Given the description of an element on the screen output the (x, y) to click on. 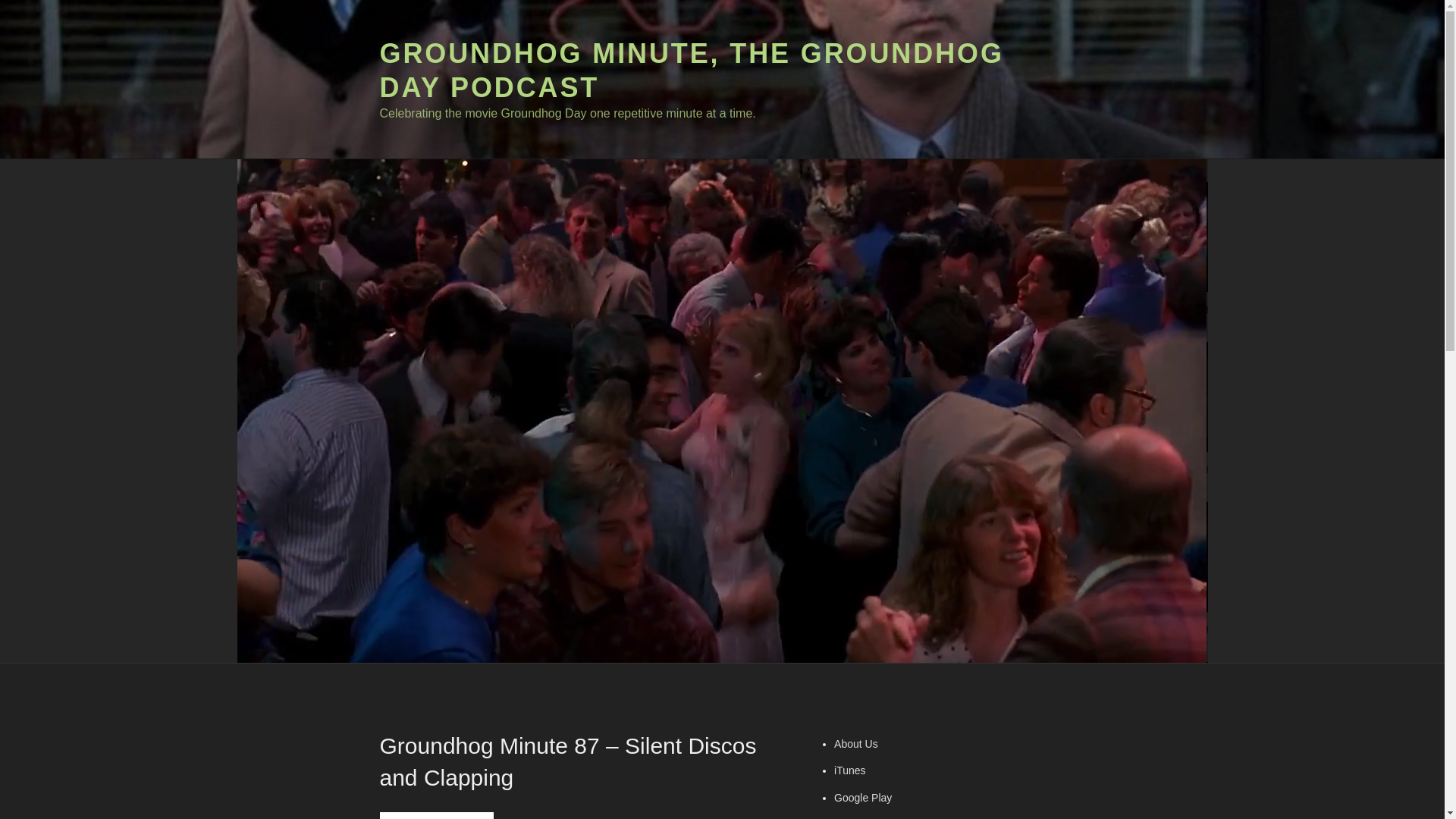
iTunes (850, 770)
Groundhog Minute, the Groundhog Day podcast (435, 815)
GROUNDHOG MINUTE, THE GROUNDHOG DAY PODCAST (690, 70)
Google Play (862, 797)
About Us (855, 743)
